Given the description of an element on the screen output the (x, y) to click on. 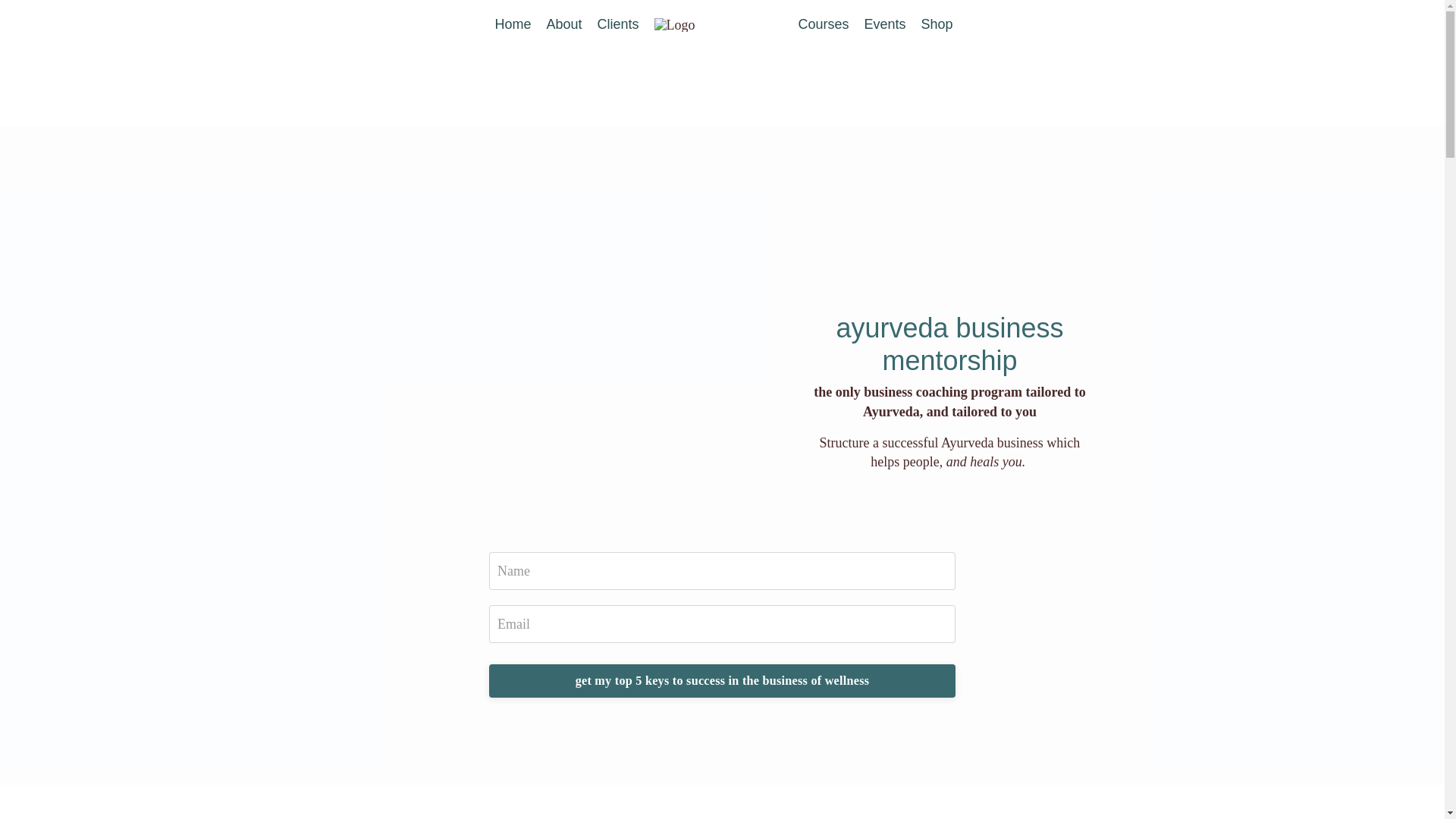
Shop (937, 24)
Courses (822, 24)
Events (884, 24)
get my top 5 keys to success in the business of wellness (722, 680)
Home (513, 24)
About (563, 24)
Clients (617, 24)
